Given the description of an element on the screen output the (x, y) to click on. 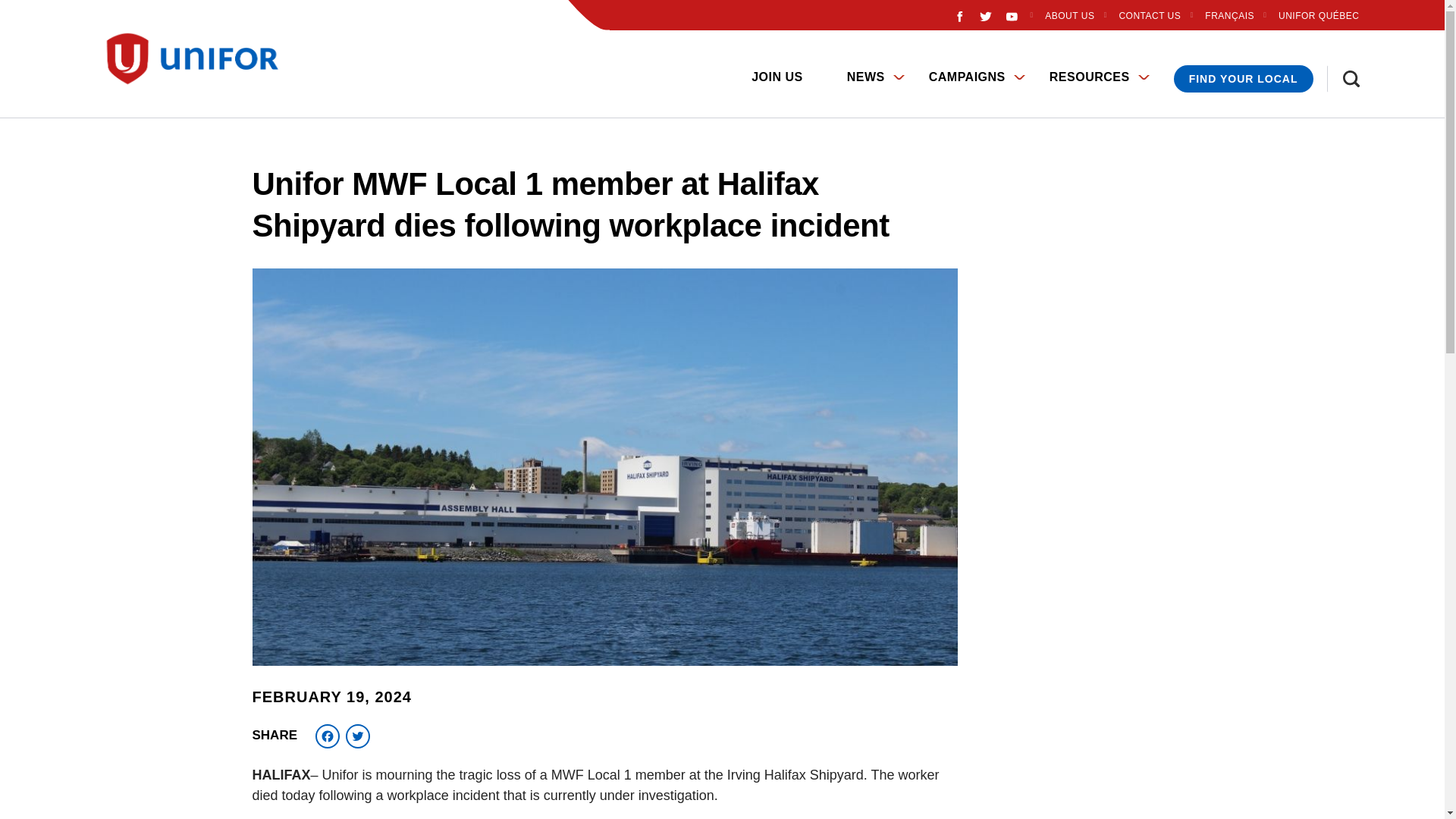
Home (104, 65)
Find your Unifor Local (1243, 78)
Home (198, 58)
